Given the description of an element on the screen output the (x, y) to click on. 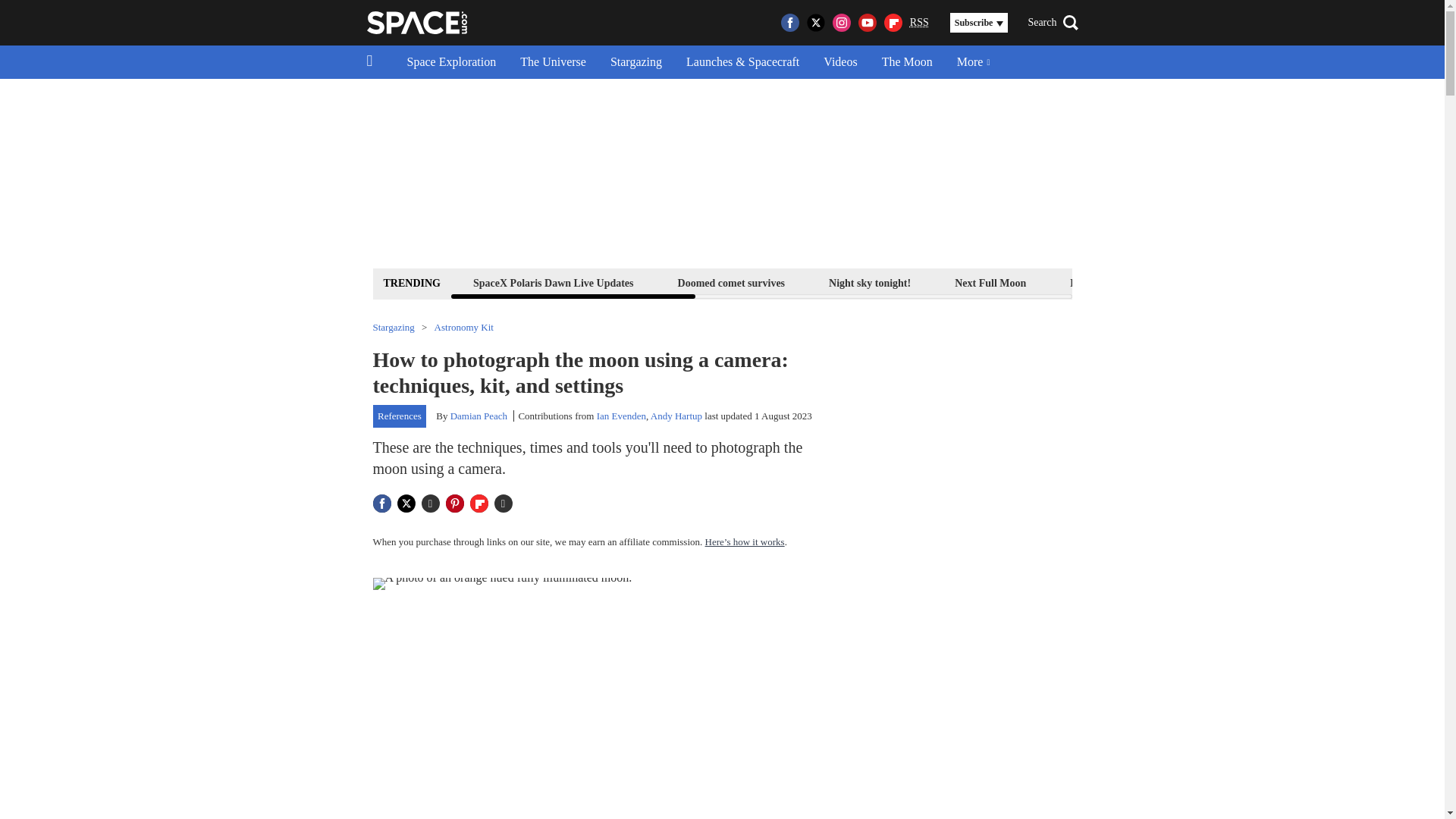
Night sky tonight! (869, 282)
The Moon (906, 61)
Next Full Moon (989, 282)
The Universe (553, 61)
Stargazing (636, 61)
Best Binoculars (1218, 282)
RSS (919, 22)
Really Simple Syndication (919, 21)
SpaceX Polaris Dawn Live Updates (553, 282)
Space Exploration (451, 61)
